Given the description of an element on the screen output the (x, y) to click on. 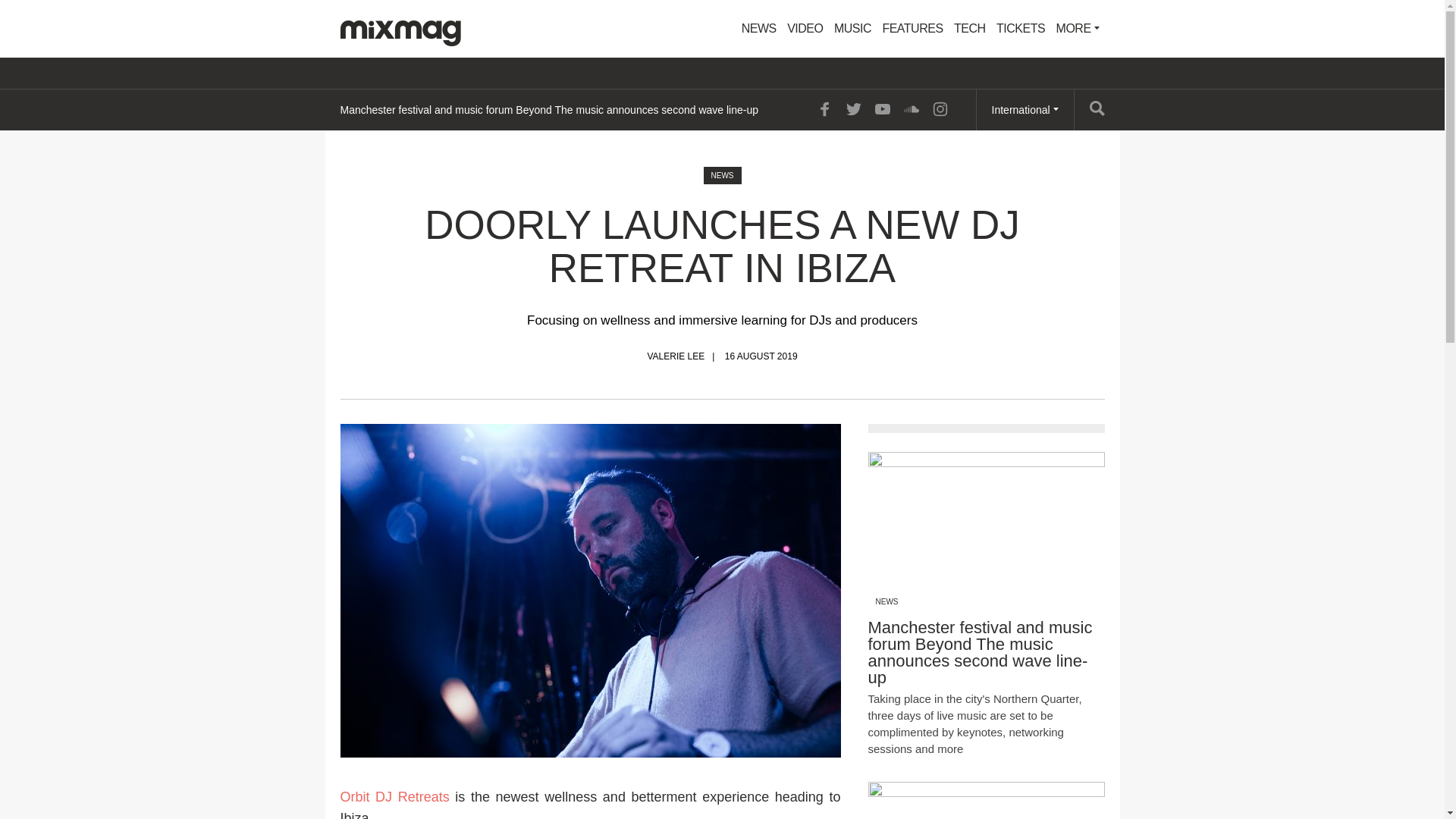
MORE (1078, 28)
TICKETS (1020, 28)
FEATURES (911, 28)
